Given the description of an element on the screen output the (x, y) to click on. 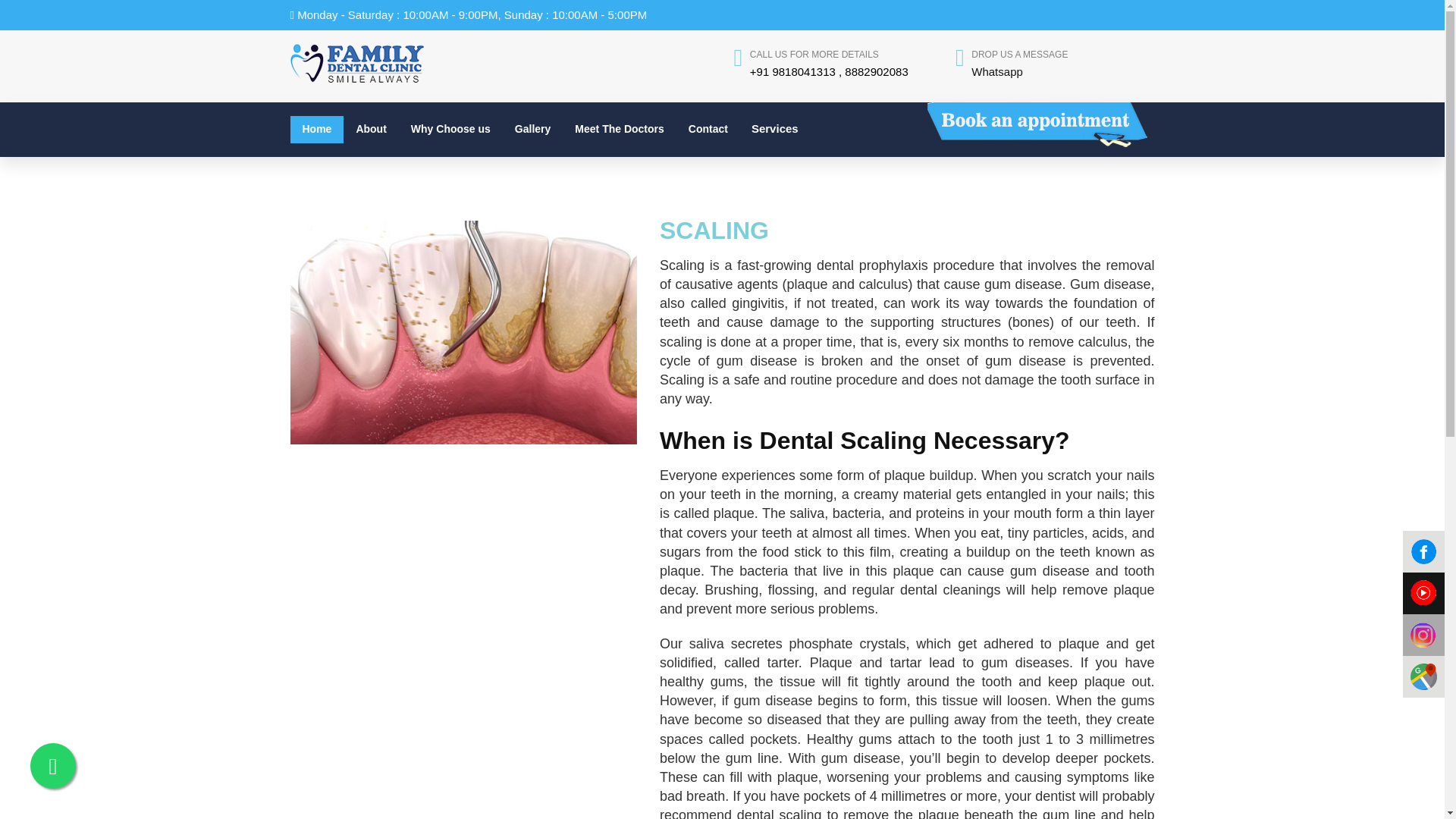
Services (777, 115)
Gallery (532, 129)
Whatsapp (997, 71)
Why Choose us (450, 129)
Home (316, 129)
About (370, 129)
Meet The Doctors (618, 129)
Contact (708, 129)
CALL US FOR MORE DETAILS (814, 54)
DROP US A MESSAGE (1019, 54)
